Given the description of an element on the screen output the (x, y) to click on. 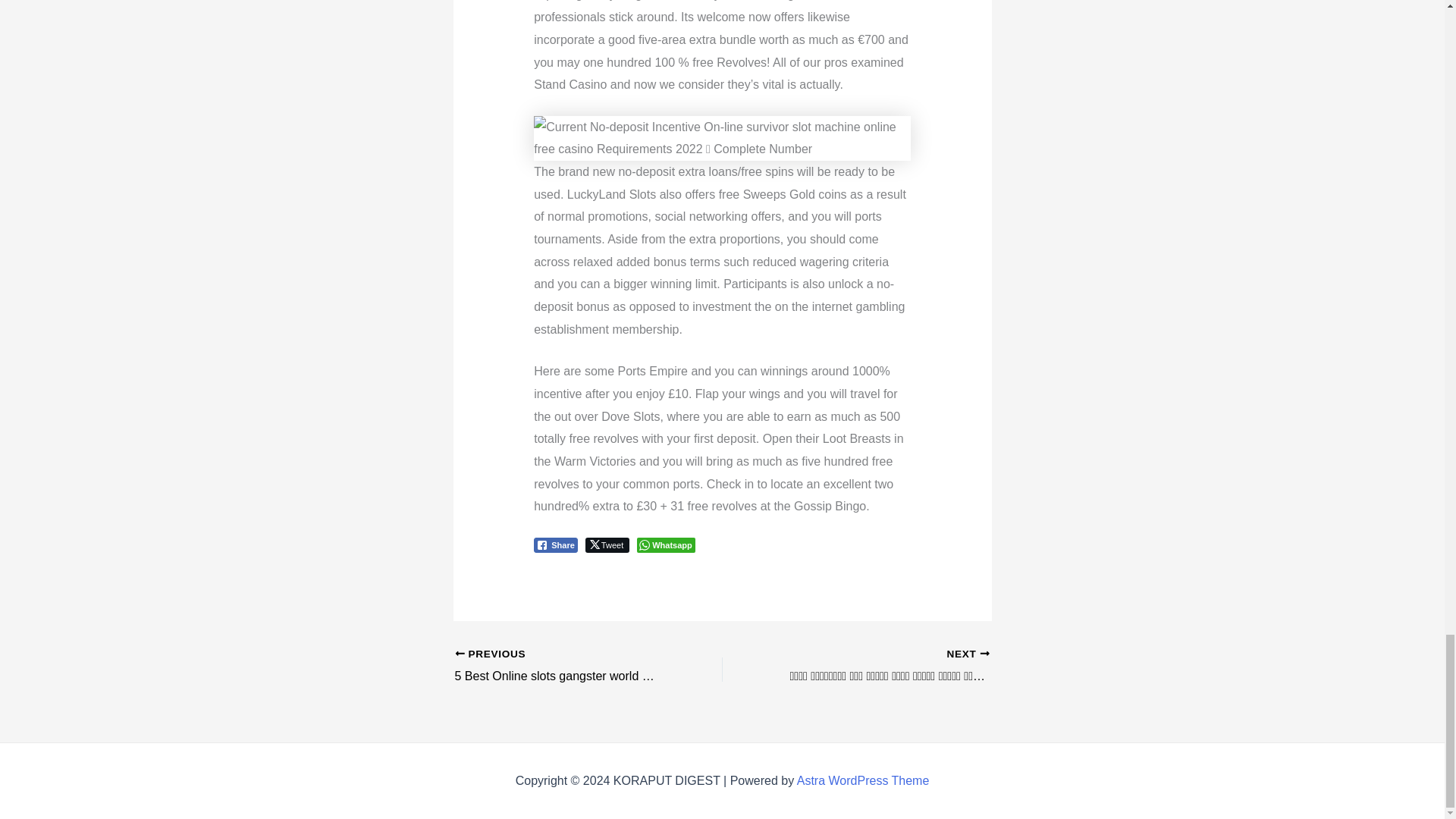
Share (556, 544)
Tweet (606, 544)
Astra WordPress Theme (863, 780)
Whatsapp (666, 544)
